Given the description of an element on the screen output the (x, y) to click on. 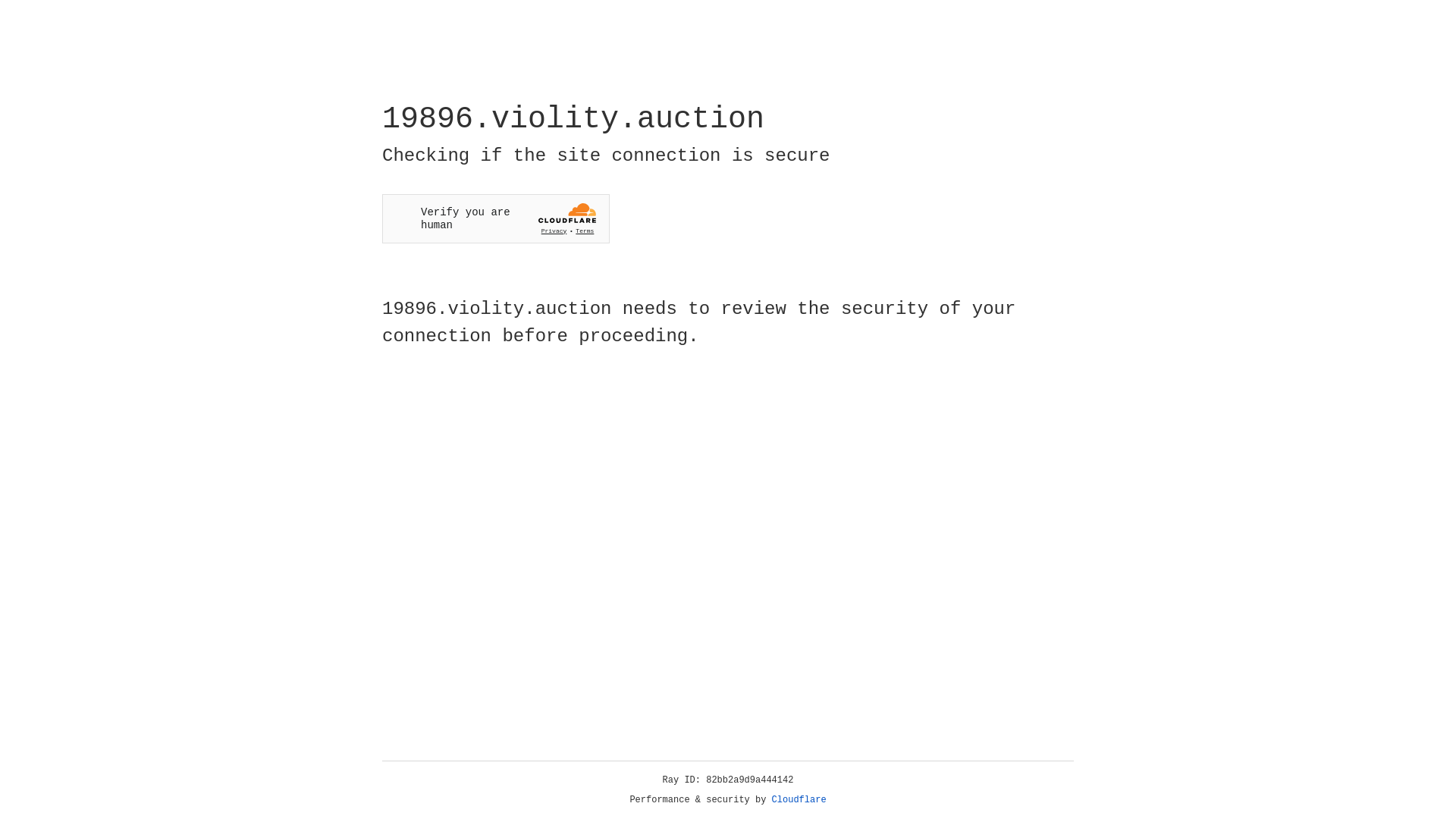
Widget containing a Cloudflare security challenge Element type: hover (495, 218)
Cloudflare Element type: text (798, 799)
